Given the description of an element on the screen output the (x, y) to click on. 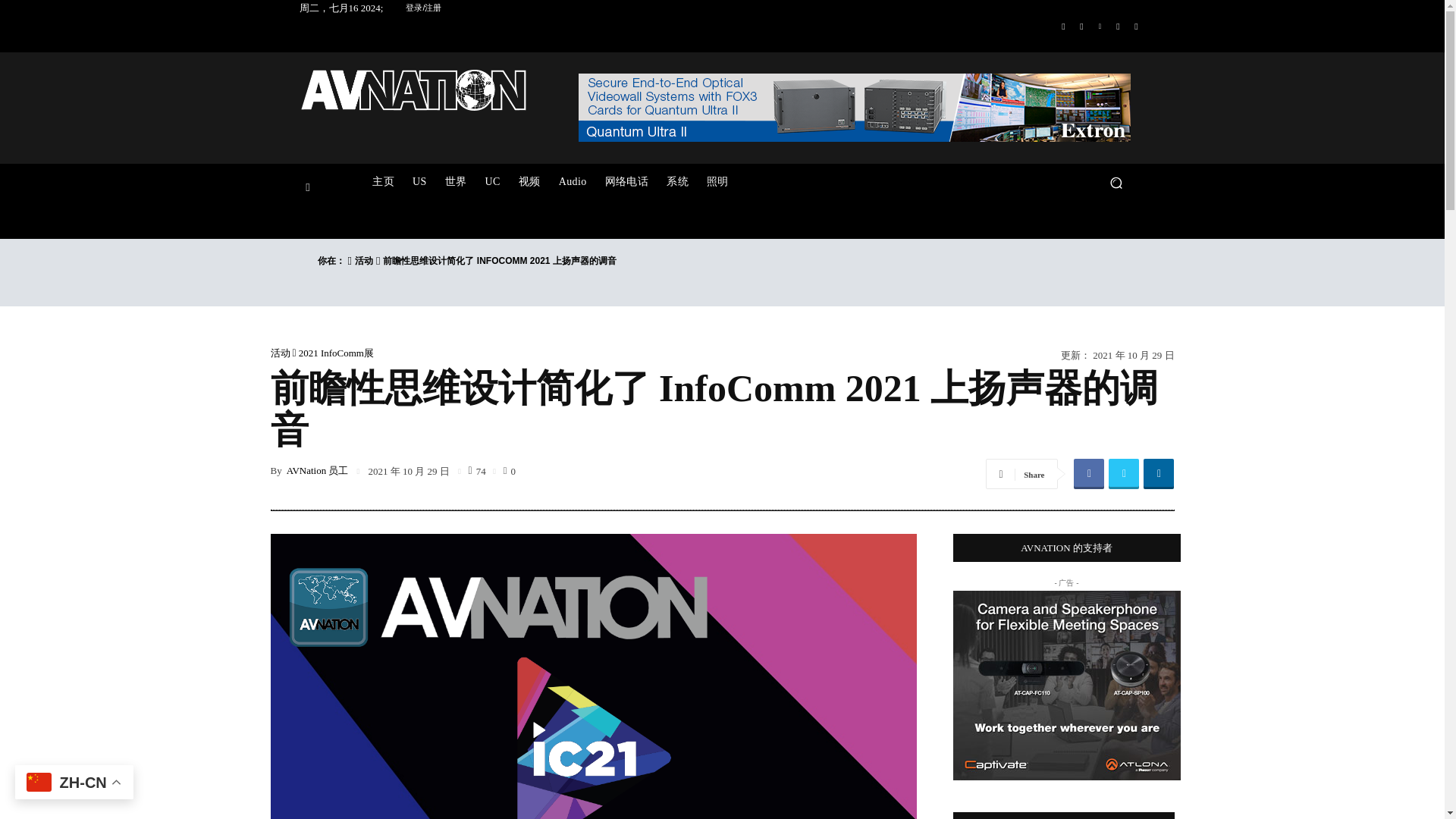
Youtube (1135, 25)
LinkedIn (1099, 25)
Instagram (1080, 25)
Twitter (1117, 25)
Facebook (1062, 25)
